Given the description of an element on the screen output the (x, y) to click on. 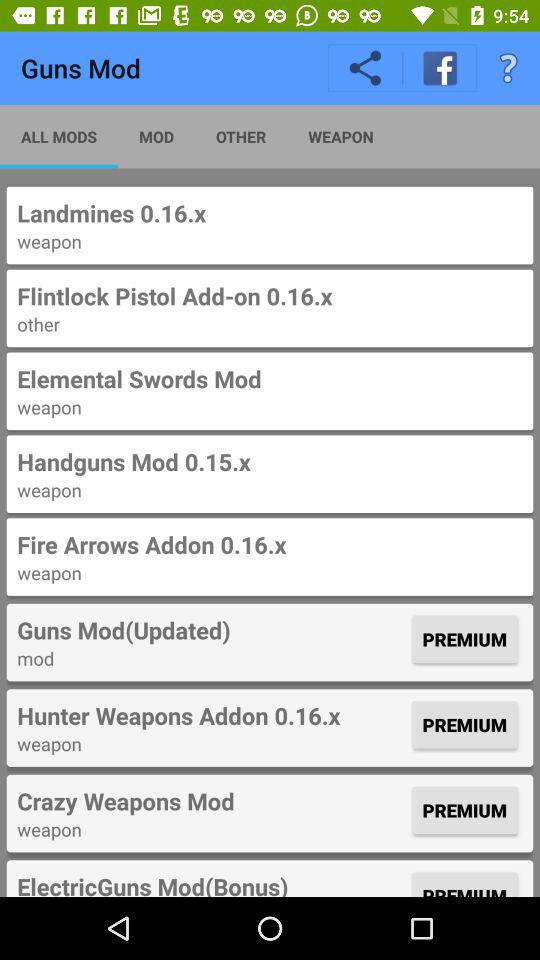
open the flintlock pistol add item (269, 295)
